Given the description of an element on the screen output the (x, y) to click on. 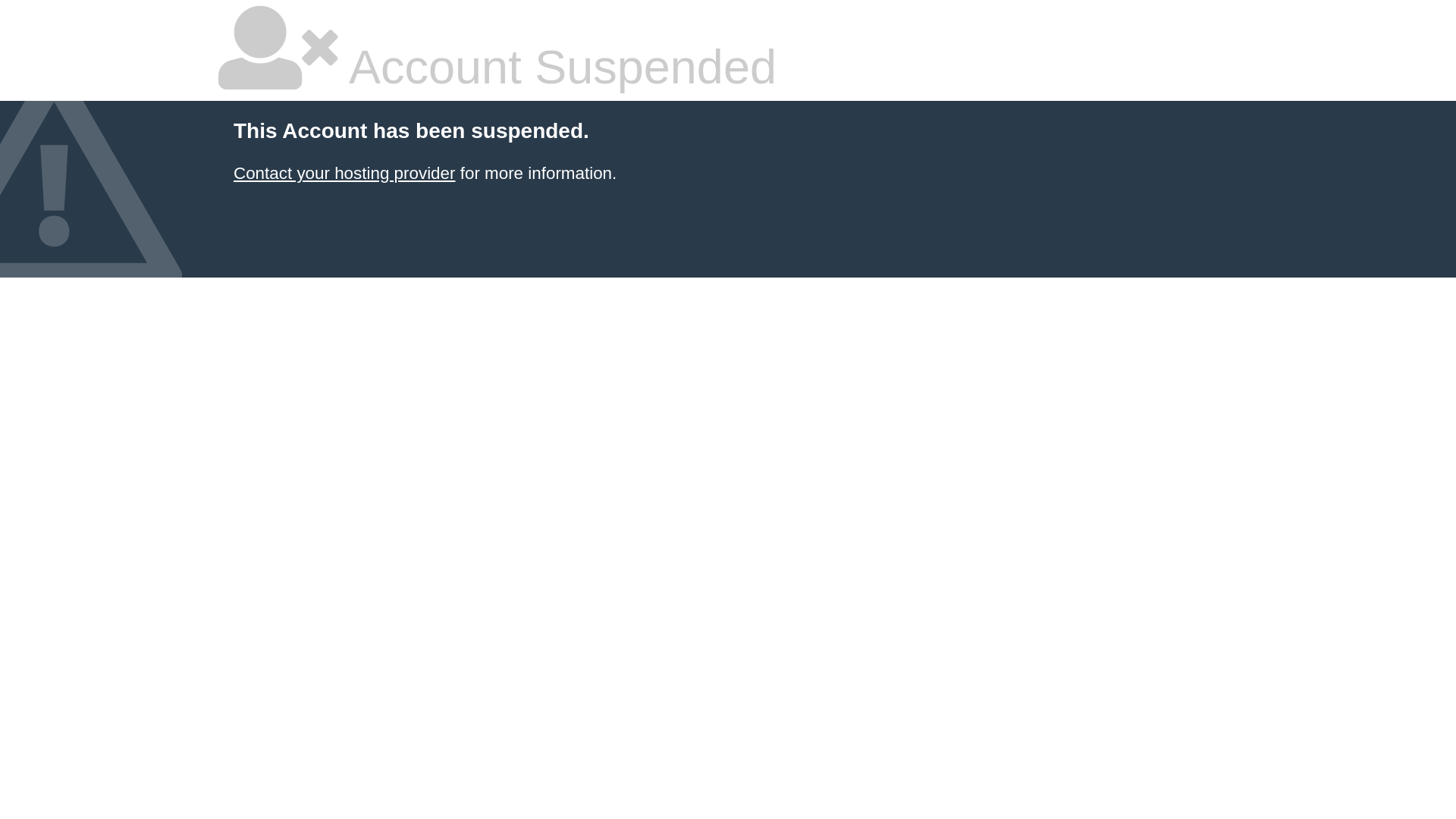
Contact your hosting provider Element type: text (344, 172)
